Given the description of an element on the screen output the (x, y) to click on. 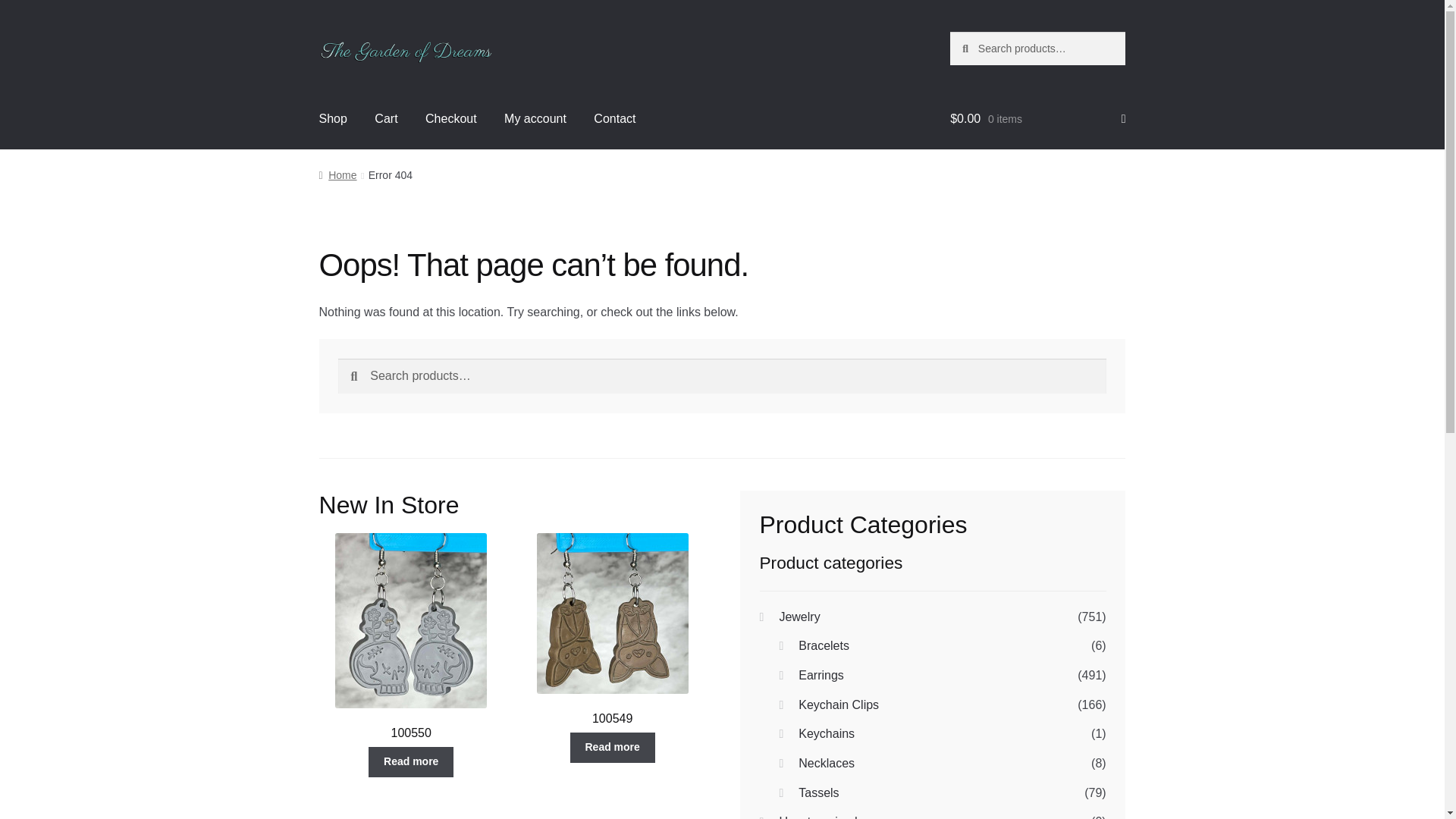
Jewelry (798, 616)
100549 (611, 629)
View your shopping cart (1037, 118)
100550 (410, 636)
Home (337, 174)
Contact (613, 118)
Necklaces (825, 762)
Read more (410, 761)
Tassels (817, 792)
